Given the description of an element on the screen output the (x, y) to click on. 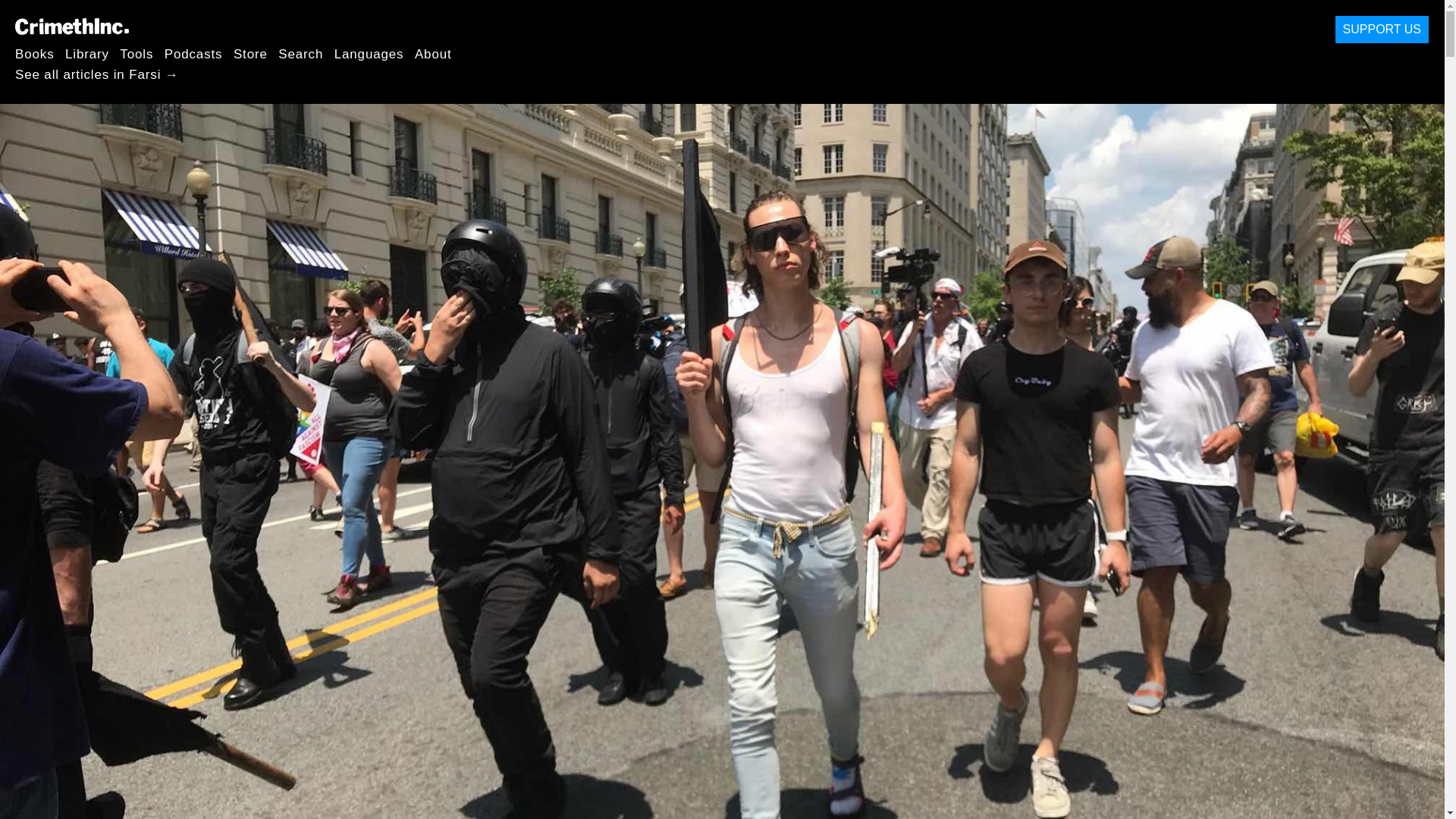
Library (87, 53)
Languages (369, 53)
Tools (135, 53)
Podcasts (193, 53)
Search (300, 53)
SUPPORT US (1382, 29)
Store (249, 53)
CrimethInc. (71, 26)
Books (34, 53)
About (432, 53)
